Given the description of an element on the screen output the (x, y) to click on. 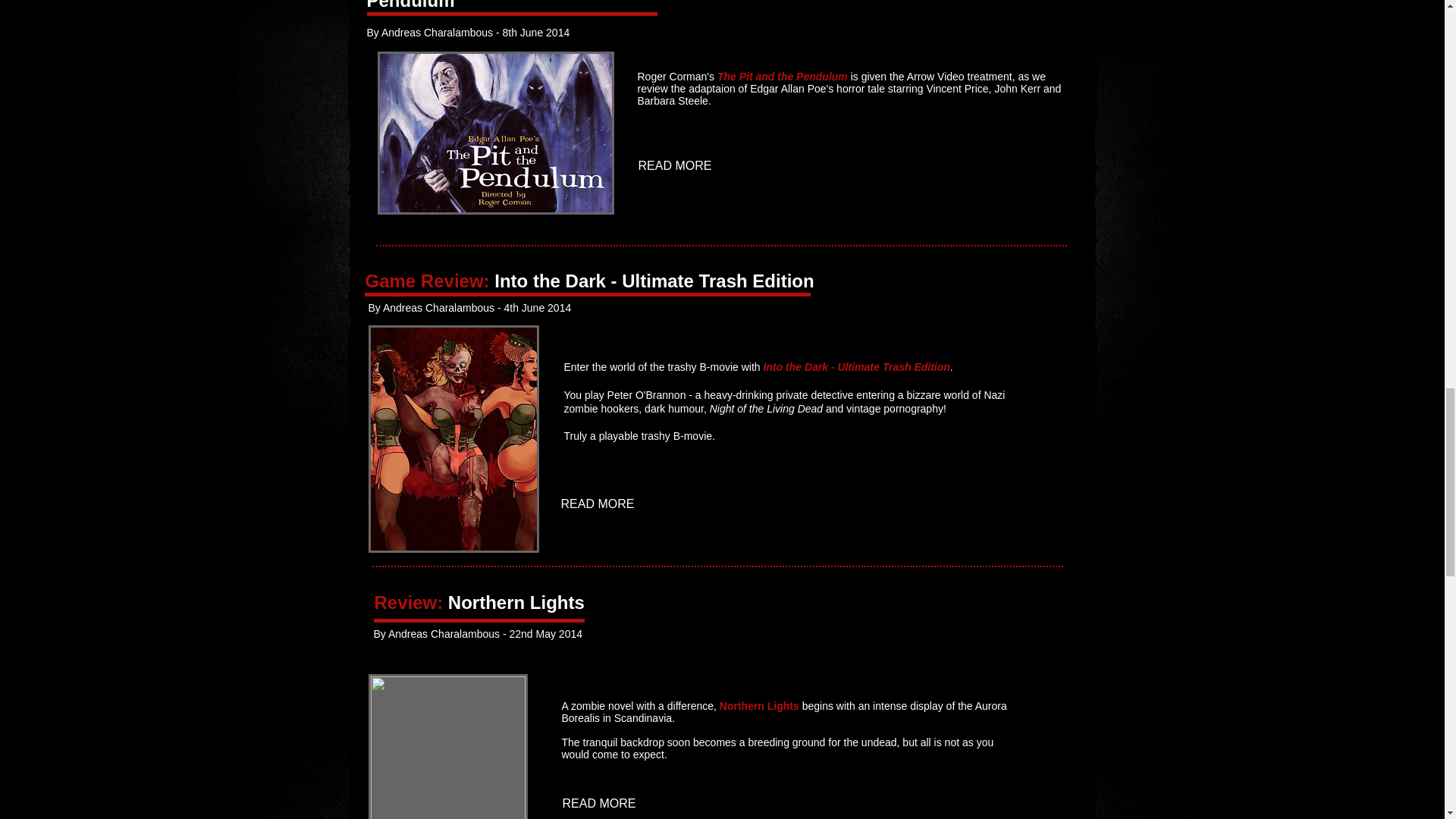
READ MORE (600, 803)
Review: Northern Lights (479, 602)
Game Review: Into the Dark - Ultimate Trash Edition (589, 281)
Review: The Pit and the Pendulum (468, 5)
READ MORE (676, 166)
READ MORE (599, 504)
Cover5.jpg (447, 746)
